Given the description of an element on the screen output the (x, y) to click on. 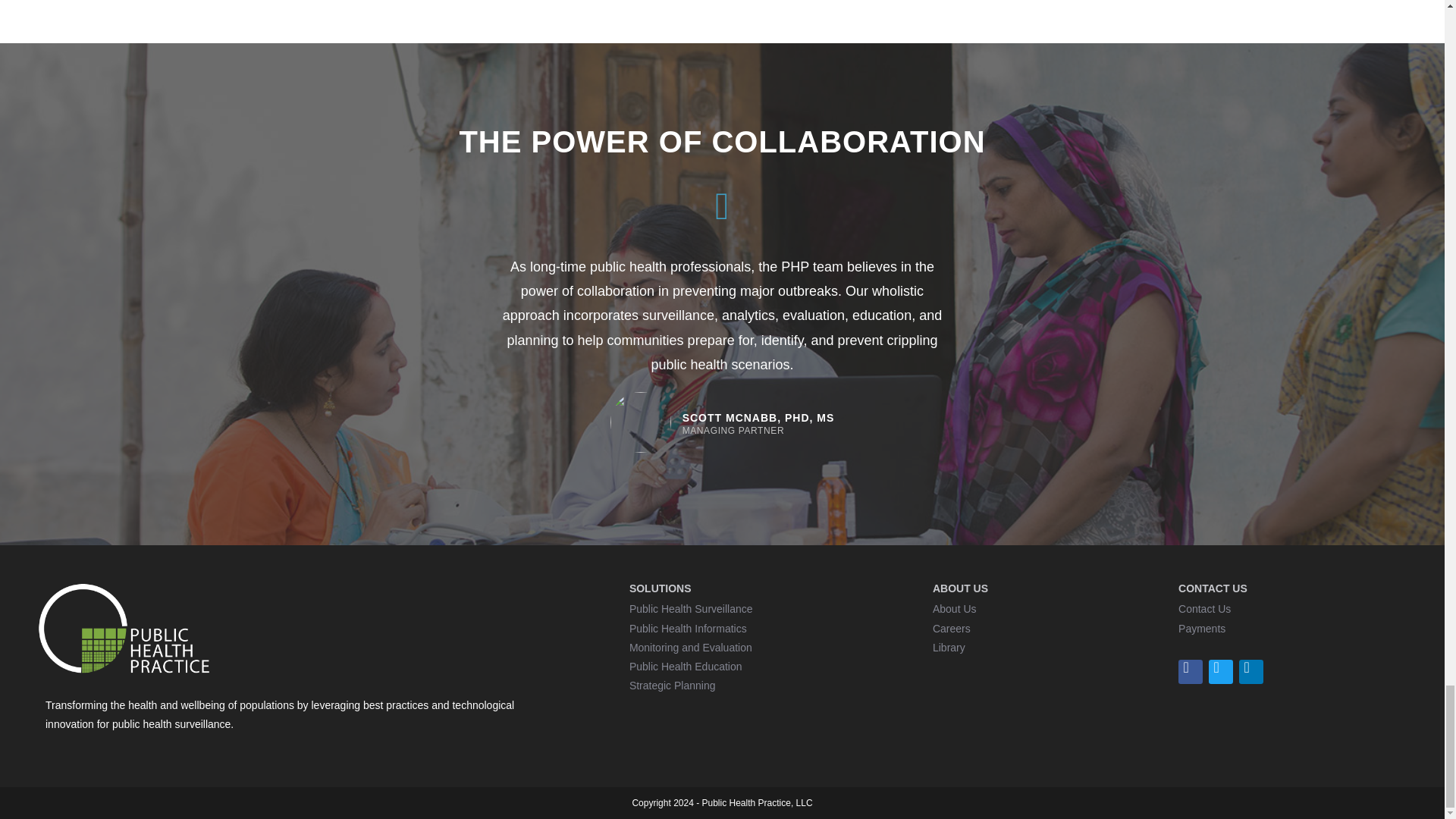
Public Health Surveillance (690, 608)
Public Health Education (685, 666)
Monitoring and Evaluation (690, 647)
Public Health Informatics (687, 628)
